Given the description of an element on the screen output the (x, y) to click on. 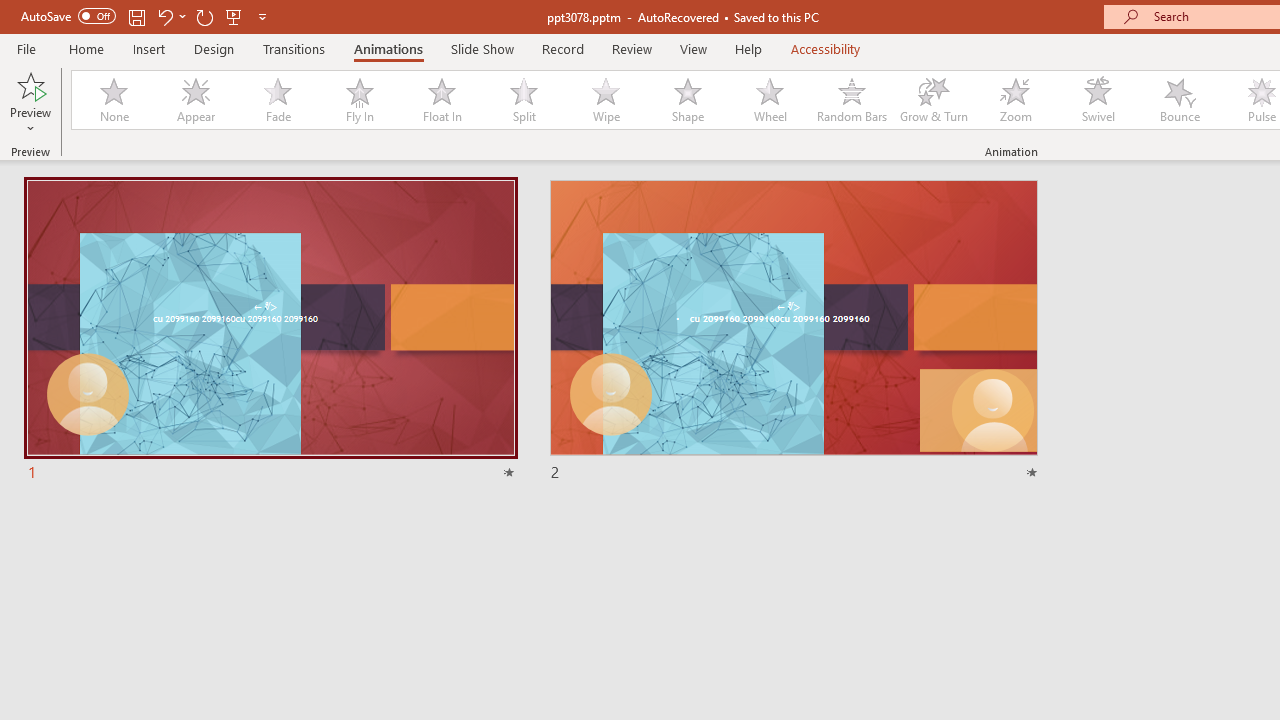
Fly In (359, 100)
Wheel (770, 100)
Grow & Turn (934, 100)
